Given the description of an element on the screen output the (x, y) to click on. 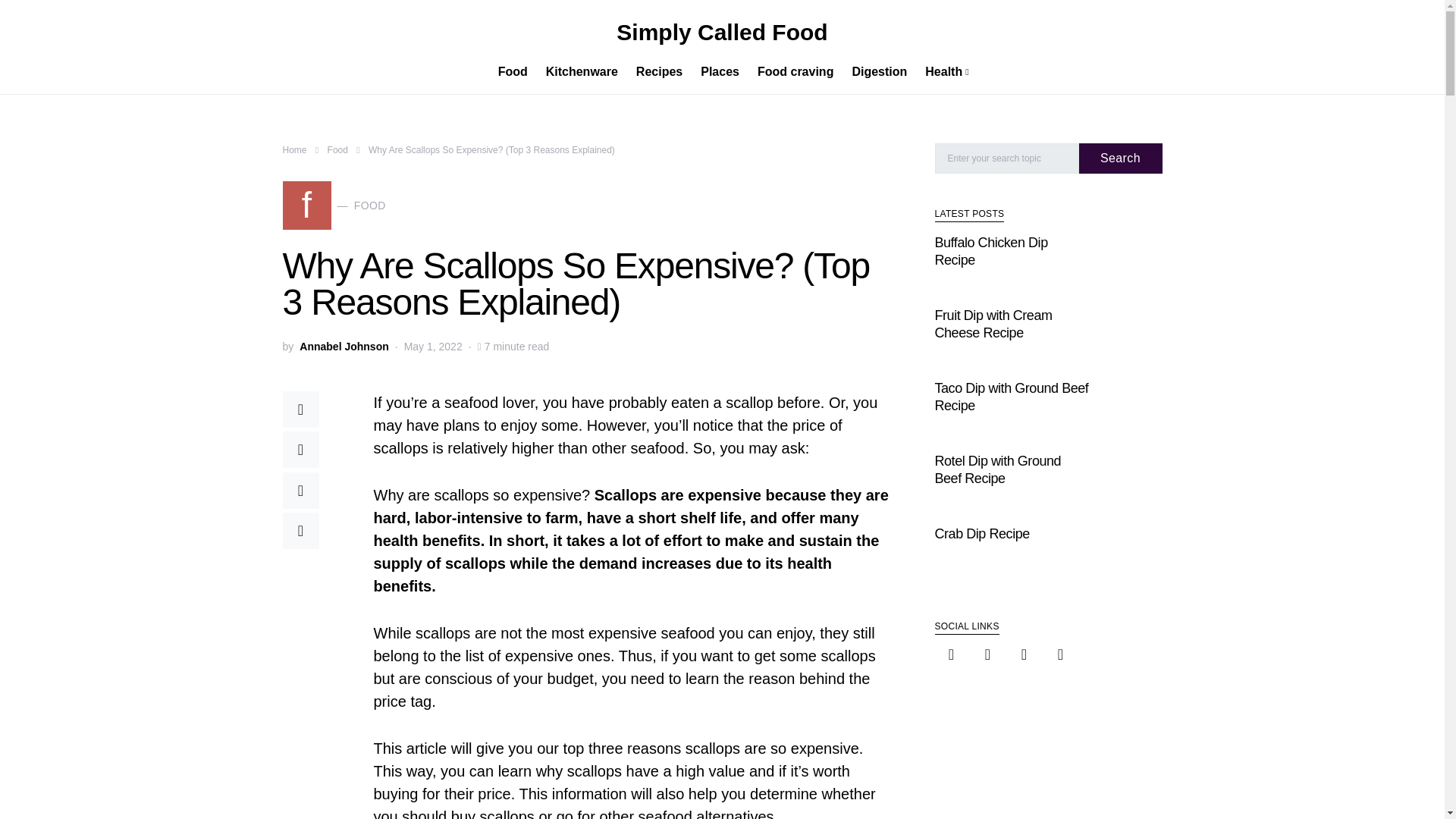
Annabel Johnson (343, 346)
Kitchenware (582, 71)
Food craving (795, 71)
Simply Called Food (721, 32)
Home (333, 205)
Recipes (293, 149)
Health (659, 71)
Places (941, 71)
Digestion (719, 71)
Food (879, 71)
View all posts by Annabel Johnson (337, 149)
